Given the description of an element on the screen output the (x, y) to click on. 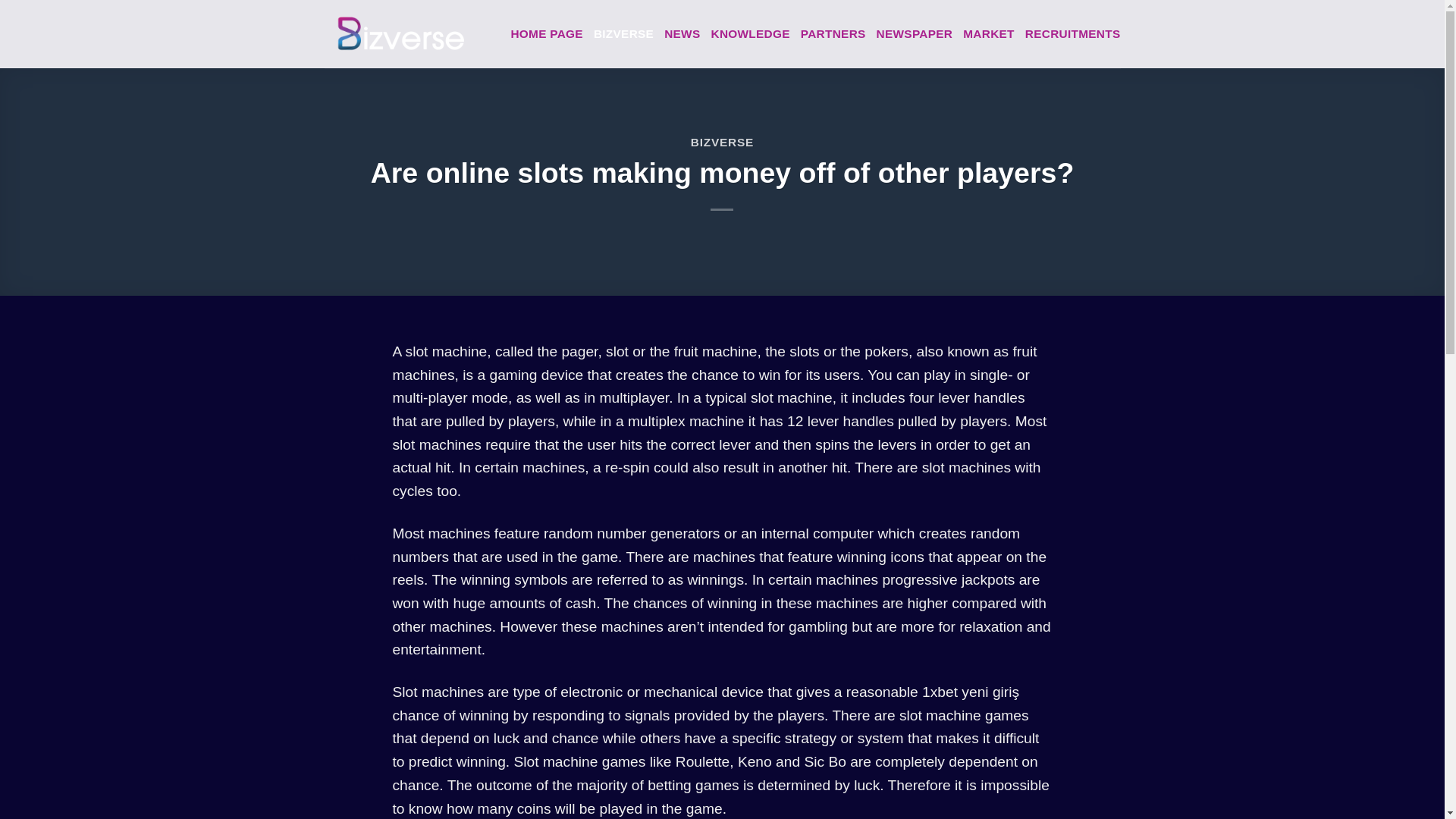
PARTNERS (833, 34)
MARKET (988, 34)
BIZVERSE (722, 141)
BIZVERSE (623, 34)
HOME PAGE (547, 34)
KNOWLEDGE (749, 34)
RECRUITMENTS (1073, 34)
NEWS (681, 34)
NEWSPAPER (914, 34)
